Given the description of an element on the screen output the (x, y) to click on. 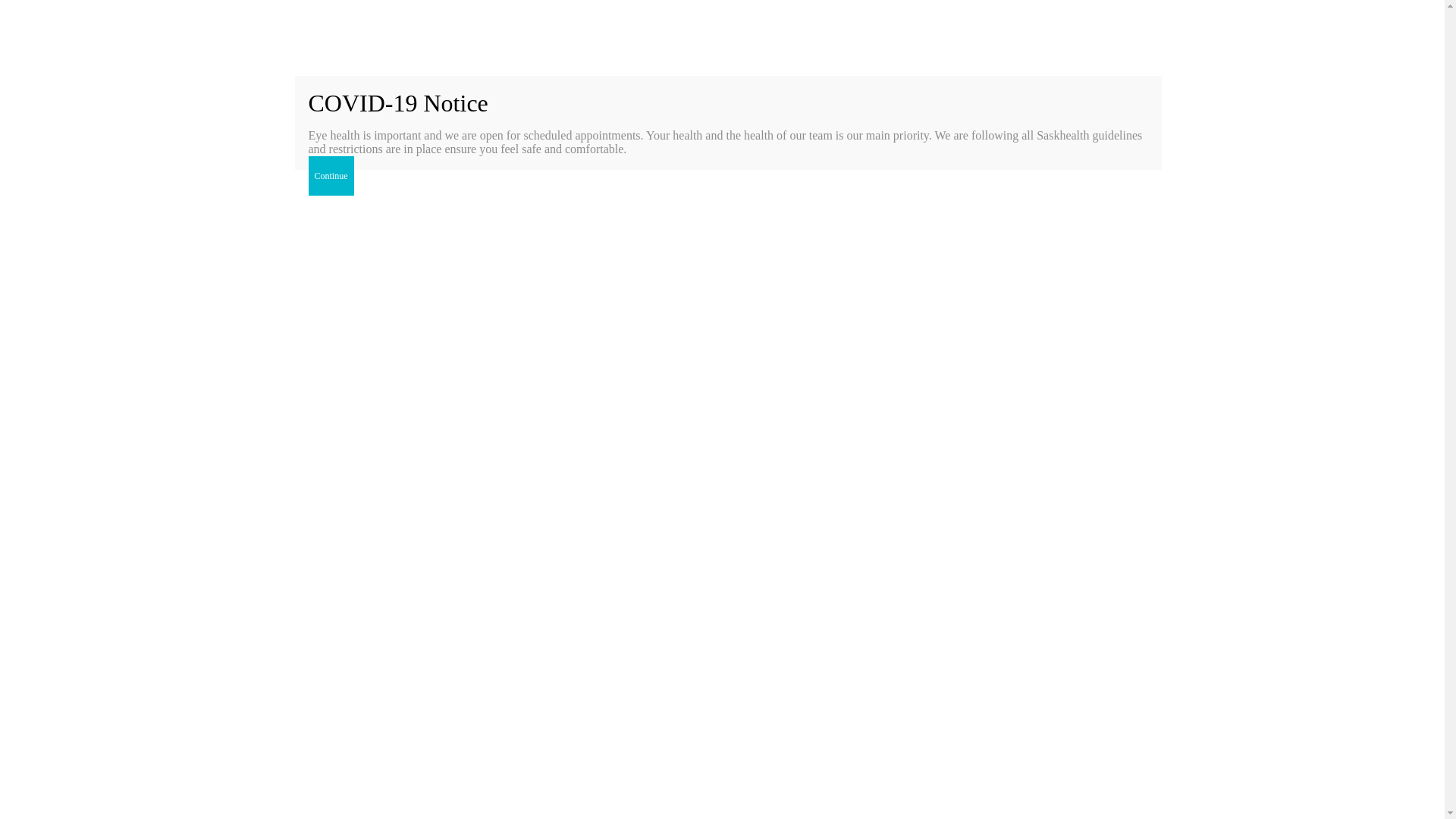
Home (1005, 426)
Privacy Policy (416, 816)
MAKE APPOINTMENT (1065, 31)
Disclaimer (503, 816)
LOCATION AND HOURS (835, 31)
SERVICES (953, 31)
WELCOME (714, 31)
Continue (330, 175)
